Given the description of an element on the screen output the (x, y) to click on. 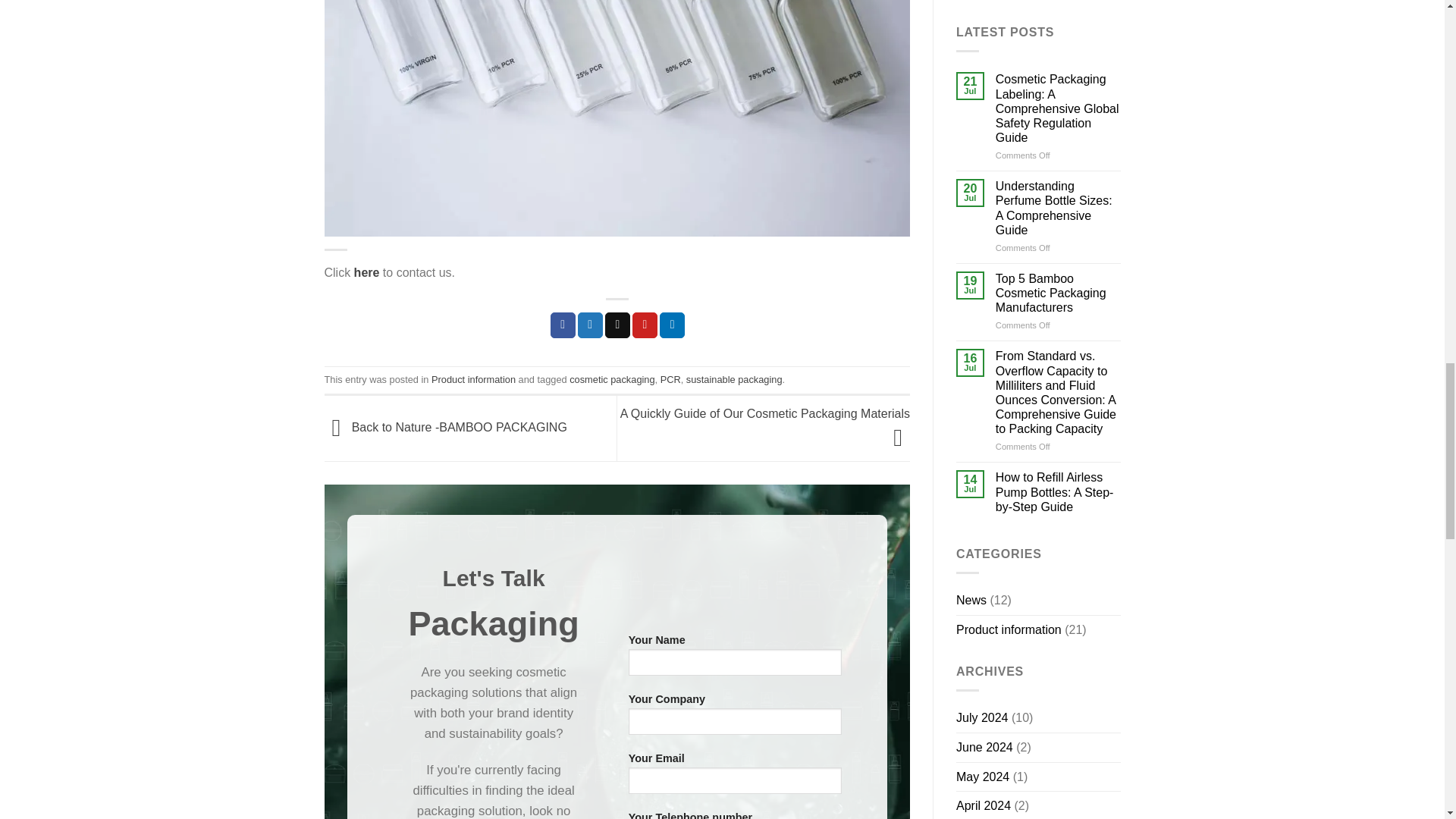
Pin on Pinterest (644, 325)
Email to a Friend (617, 325)
Share on LinkedIn (671, 325)
Share on Facebook (562, 325)
Share on Twitter (590, 325)
